Given the description of an element on the screen output the (x, y) to click on. 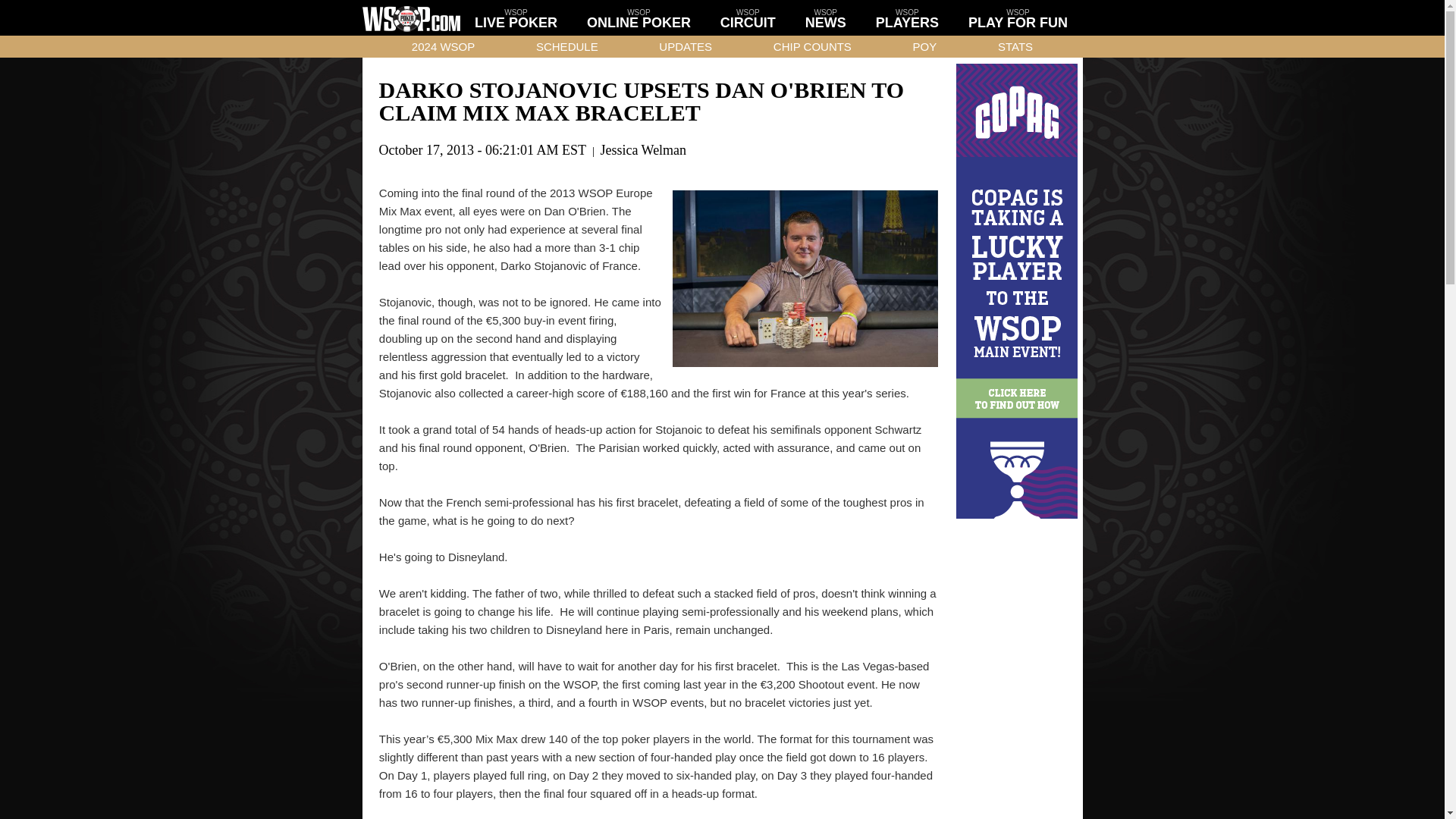
WSOPONLINE POKER (638, 16)
WSOPNEWS (825, 16)
WSOPLIVE POKER (515, 16)
WSOPPLAYERS (907, 16)
WSOPCIRCUIT (748, 16)
WSOPPLAY FOR FUN (1017, 16)
